Given the description of an element on the screen output the (x, y) to click on. 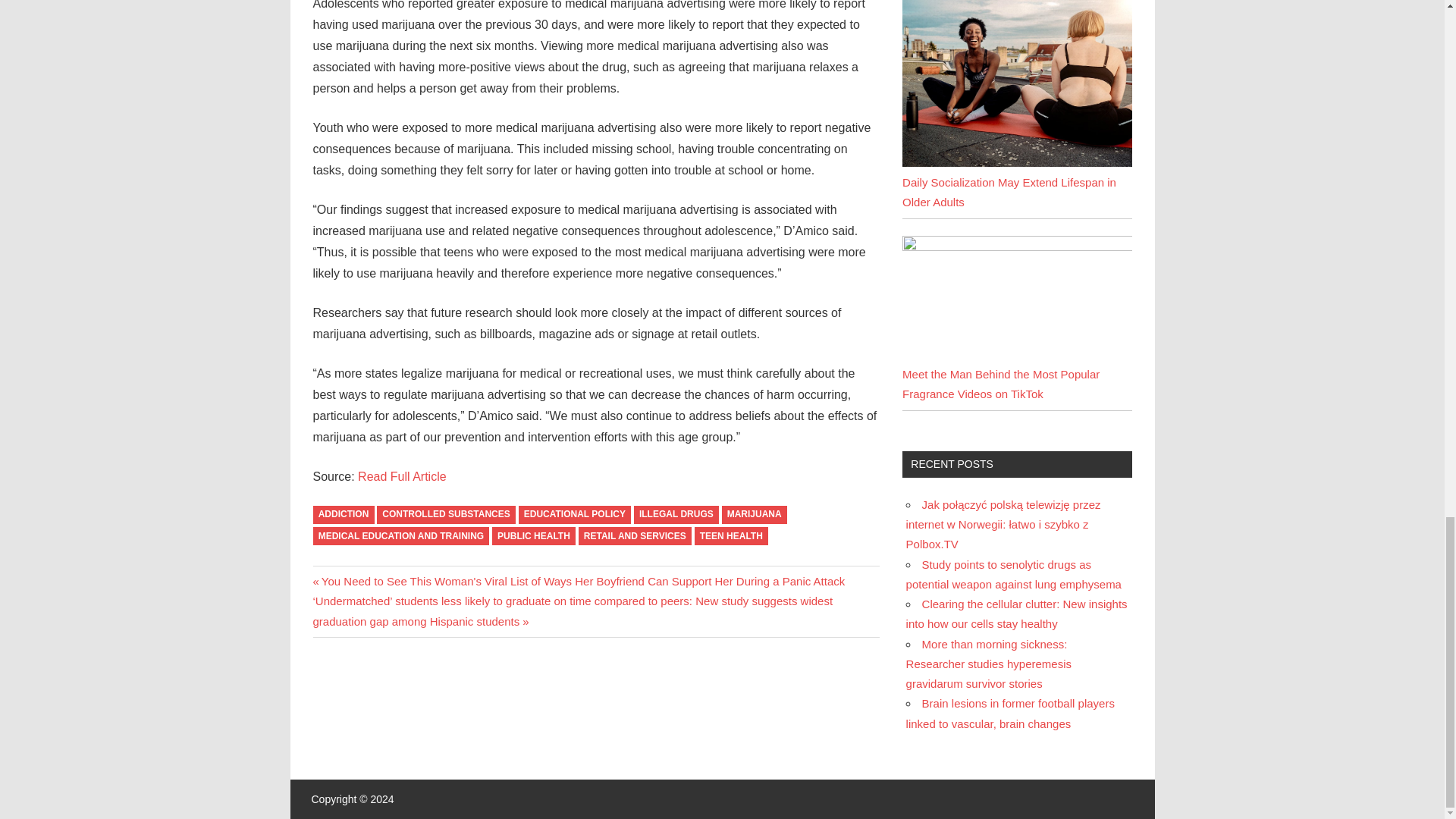
MARIJUANA (754, 515)
TEEN HEALTH (731, 536)
ADDICTION (343, 515)
CONTROLLED SUBSTANCES (446, 515)
EDUCATIONAL POLICY (574, 515)
MEDICAL EDUCATION AND TRAINING (401, 536)
ILLEGAL DRUGS (676, 515)
